Given the description of an element on the screen output the (x, y) to click on. 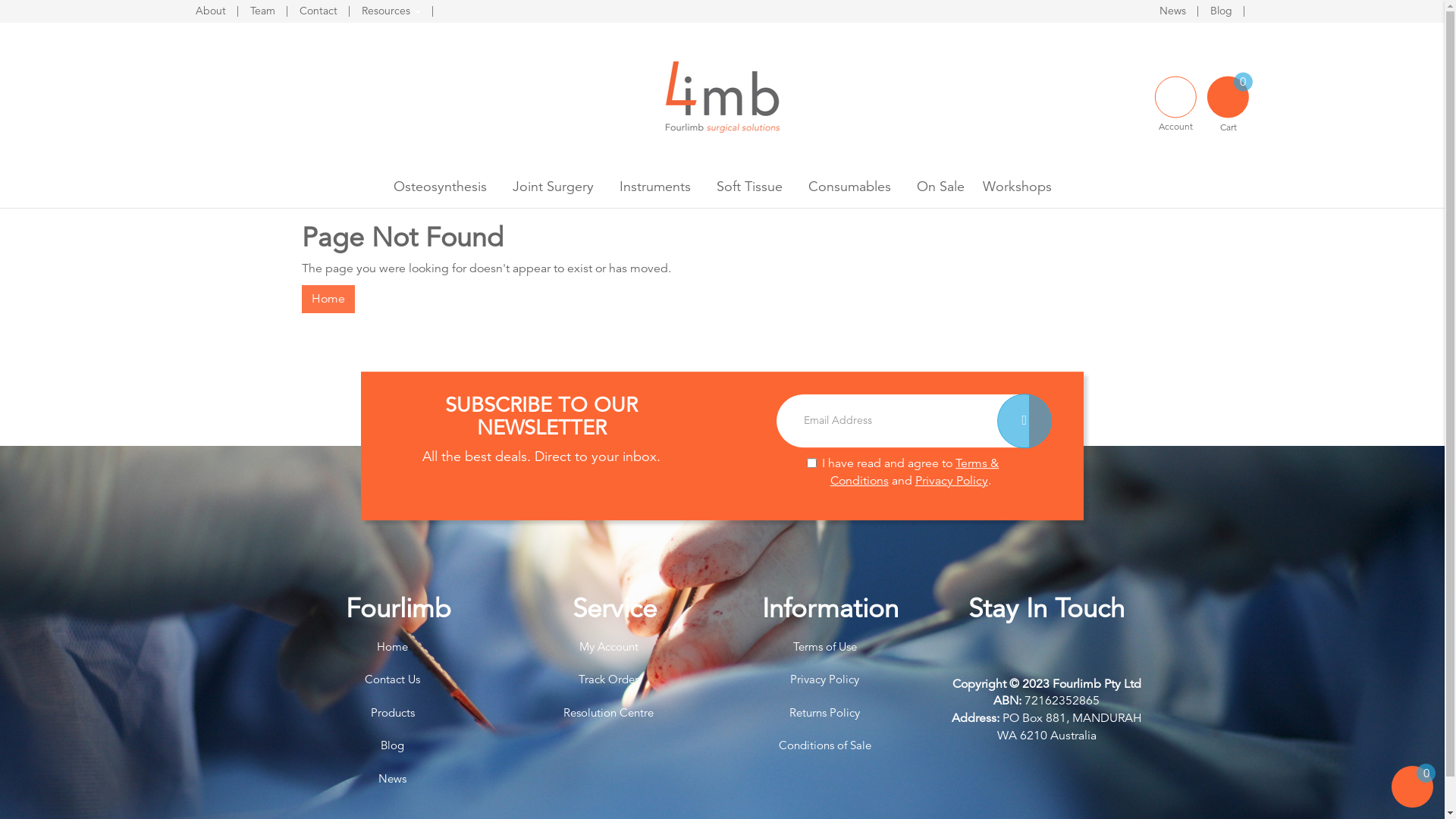
Products Element type: text (391, 712)
Soft Tissue Element type: text (748, 186)
Track Order Element type: text (608, 678)
0
Cart Element type: text (1227, 96)
Account Element type: text (1175, 96)
Osteosynthesis Element type: text (439, 186)
Privacy Policy Element type: text (951, 480)
Home Element type: text (391, 646)
News Element type: text (1174, 10)
On Sale Element type: text (939, 186)
Terms & Conditions Element type: text (914, 471)
Home Element type: text (327, 299)
0
Cart Element type: text (1229, 92)
0 Element type: text (1412, 801)
Resources Element type: text (390, 10)
Blog Element type: text (1222, 10)
Contact Element type: text (319, 10)
Conditions of Sale Element type: text (823, 744)
Instruments Element type: text (654, 186)
Account Element type: text (1177, 92)
Team Element type: text (264, 10)
Terms of Use Element type: text (823, 646)
Workshops Element type: text (1016, 186)
Contact Us Element type: text (391, 678)
Fourlimb Pty Ltd Element type: hover (722, 95)
About Element type: text (212, 10)
News Element type: text (391, 777)
Blog Element type: text (391, 744)
My Account Element type: text (608, 646)
Resolution Centre Element type: text (608, 712)
Consumables Element type: text (849, 186)
Returns Policy Element type: text (823, 712)
Joint Surgery Element type: text (552, 186)
Privacy Policy Element type: text (823, 678)
0 Element type: text (1412, 786)
